Given the description of an element on the screen output the (x, y) to click on. 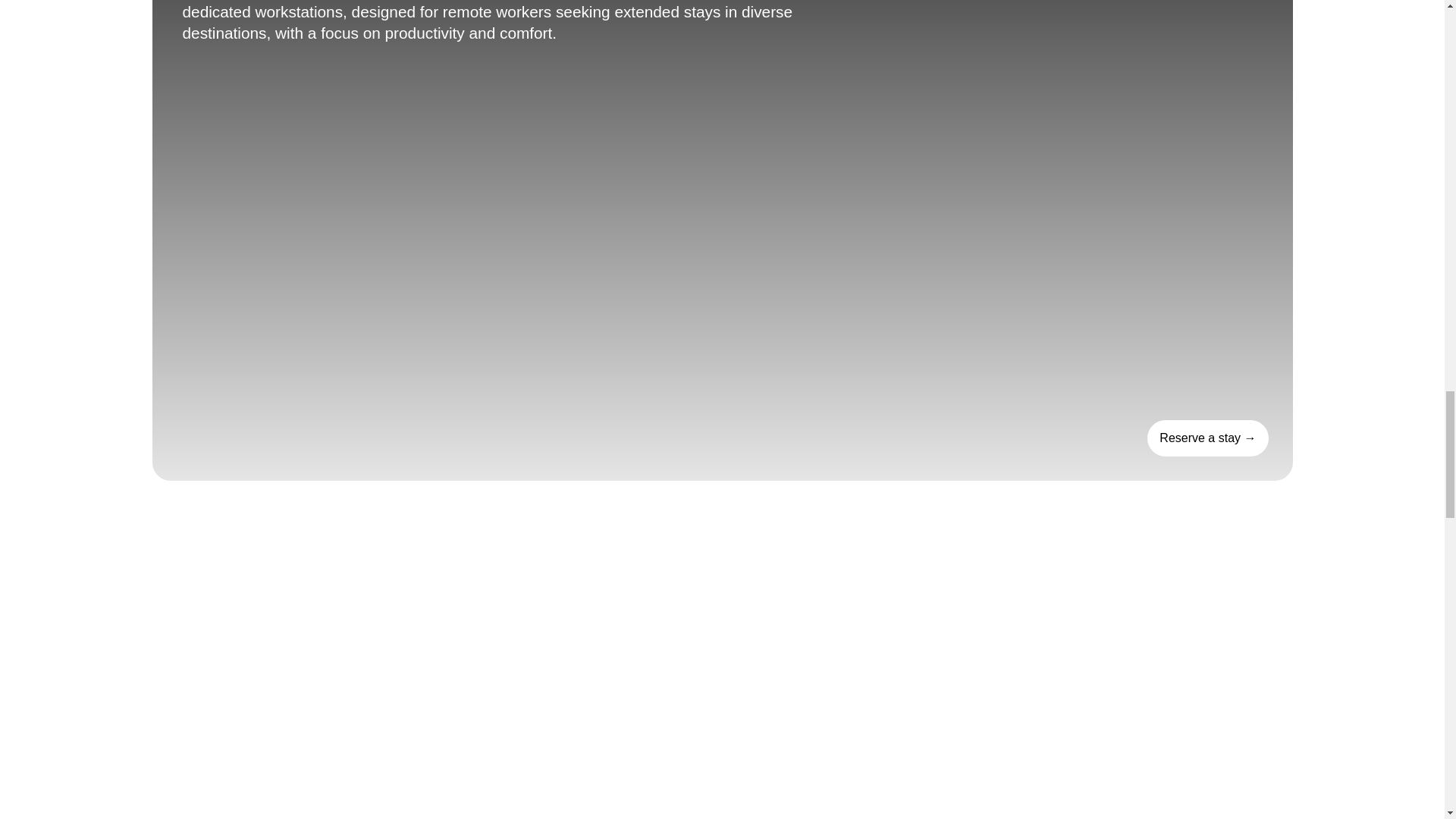
See Properties (1207, 438)
